Given the description of an element on the screen output the (x, y) to click on. 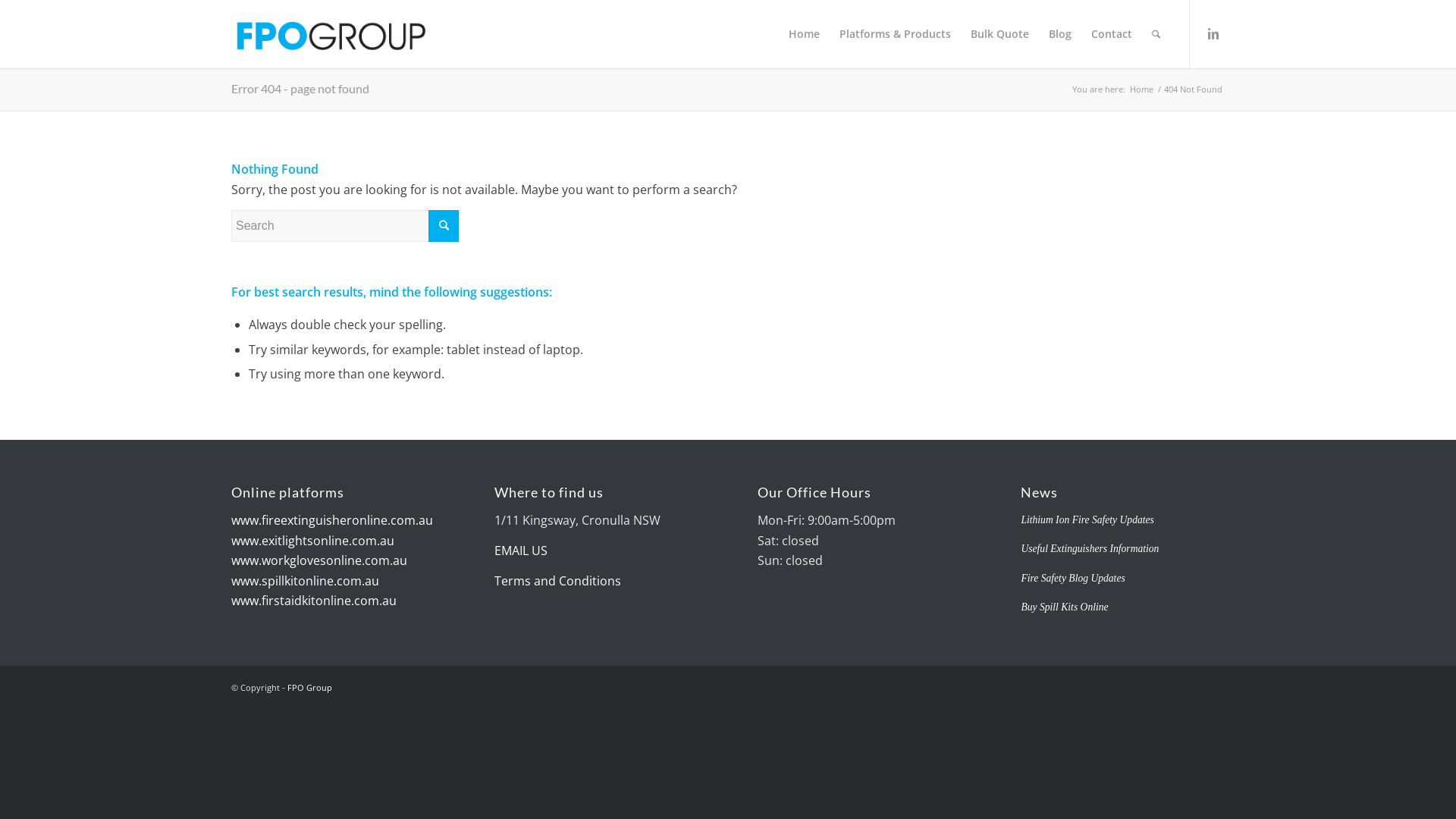
www.exitlightsonline.com.au Element type: text (312, 540)
Useful Extinguishers Information Element type: text (1089, 548)
Platforms & Products Element type: text (894, 34)
www.workglovesonline.com.au Element type: text (319, 560)
Lithium Ion Fire Safety Updates Element type: text (1086, 519)
Buy Spill Kits Online Element type: text (1063, 606)
www.firstaidkitonline.com.au Element type: text (313, 600)
Terms and Conditions Element type: text (557, 580)
EMAIL US Element type: text (520, 550)
Home Element type: text (803, 34)
Linkedin Element type: hover (1212, 32)
Fire Safety Blog Updates Element type: text (1072, 577)
www.fireextinguisheronline.com.au Element type: text (332, 519)
Home Element type: text (1141, 88)
FPO Group Element type: text (309, 687)
Bulk Quote Element type: text (999, 34)
www.spillkitonline.com.au Element type: text (305, 580)
Blog Element type: text (1059, 34)
Contact Element type: text (1111, 34)
